Given the description of an element on the screen output the (x, y) to click on. 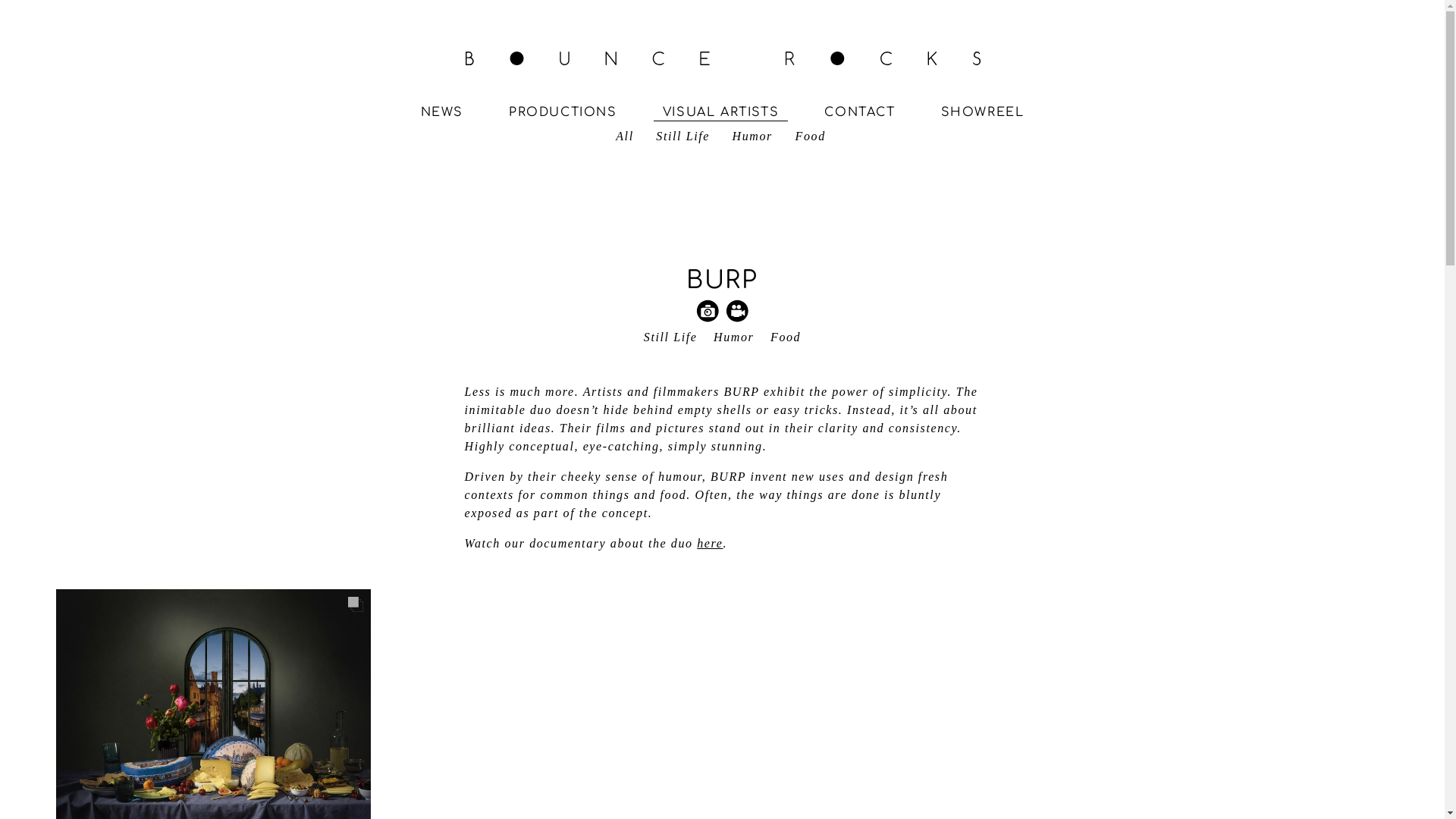
VISUAL ARTISTS Element type: text (720, 112)
here Element type: text (709, 542)
Humor Element type: text (733, 336)
CONTACT Element type: text (859, 111)
NEWS Element type: text (441, 111)
SHOWREEL Element type: text (982, 111)
Still Life Element type: text (670, 336)
All Element type: text (624, 136)
Humor Element type: text (752, 136)
Food Element type: text (810, 136)
PRODUCTIONS Element type: text (562, 111)
Food Element type: text (785, 336)
Still Life Element type: text (682, 136)
